Given the description of an element on the screen output the (x, y) to click on. 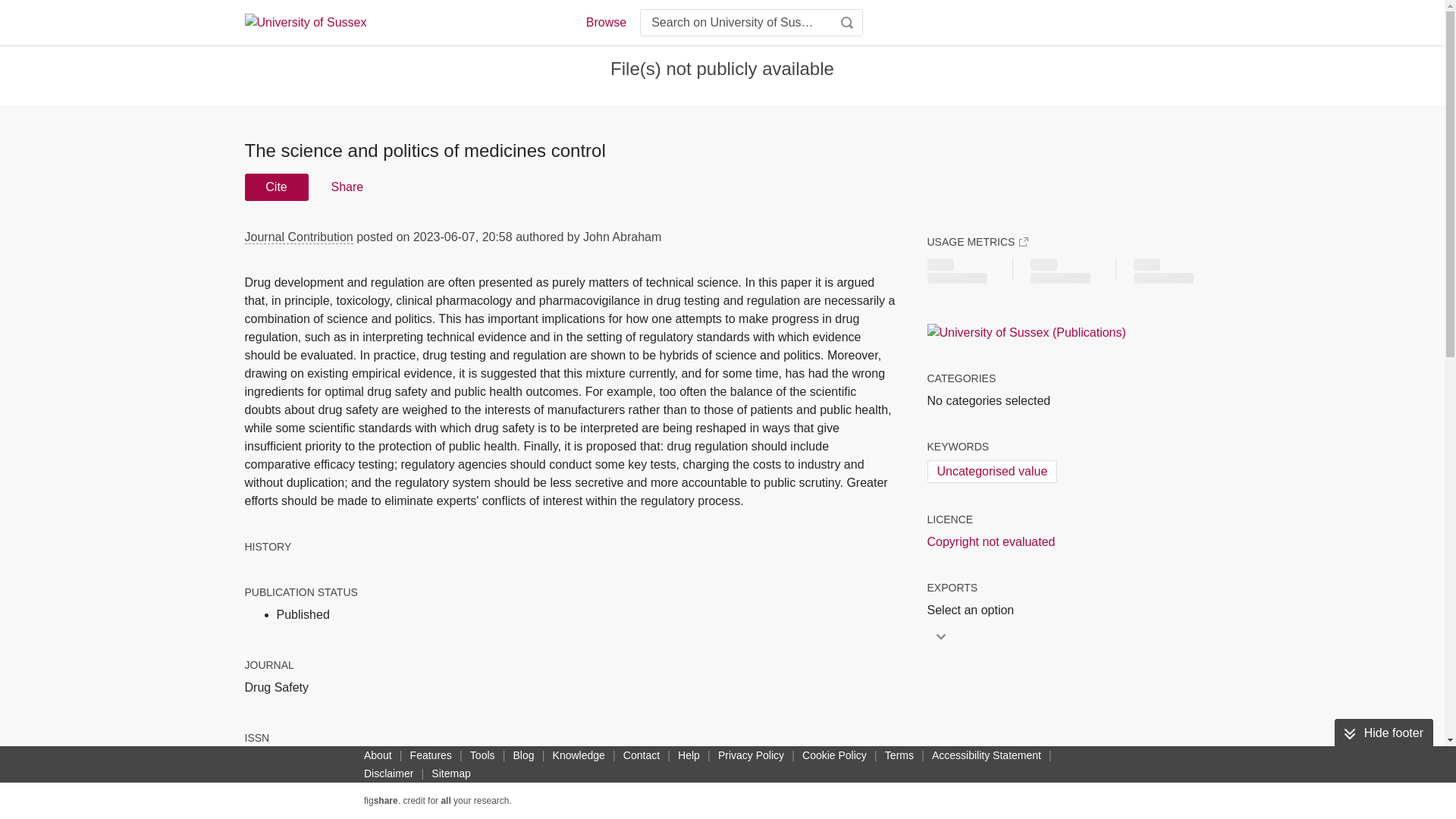
Tools (482, 755)
Contact (640, 755)
Share (346, 186)
Accessibility Statement (986, 755)
Uncategorised value (991, 471)
Disclaimer (388, 773)
Select an option (974, 610)
Features (431, 755)
About (377, 755)
Cite (275, 186)
Blog (523, 755)
Hide footer (1383, 733)
Browse (605, 22)
Copyright not evaluated (990, 542)
USAGE METRICS (976, 241)
